Given the description of an element on the screen output the (x, y) to click on. 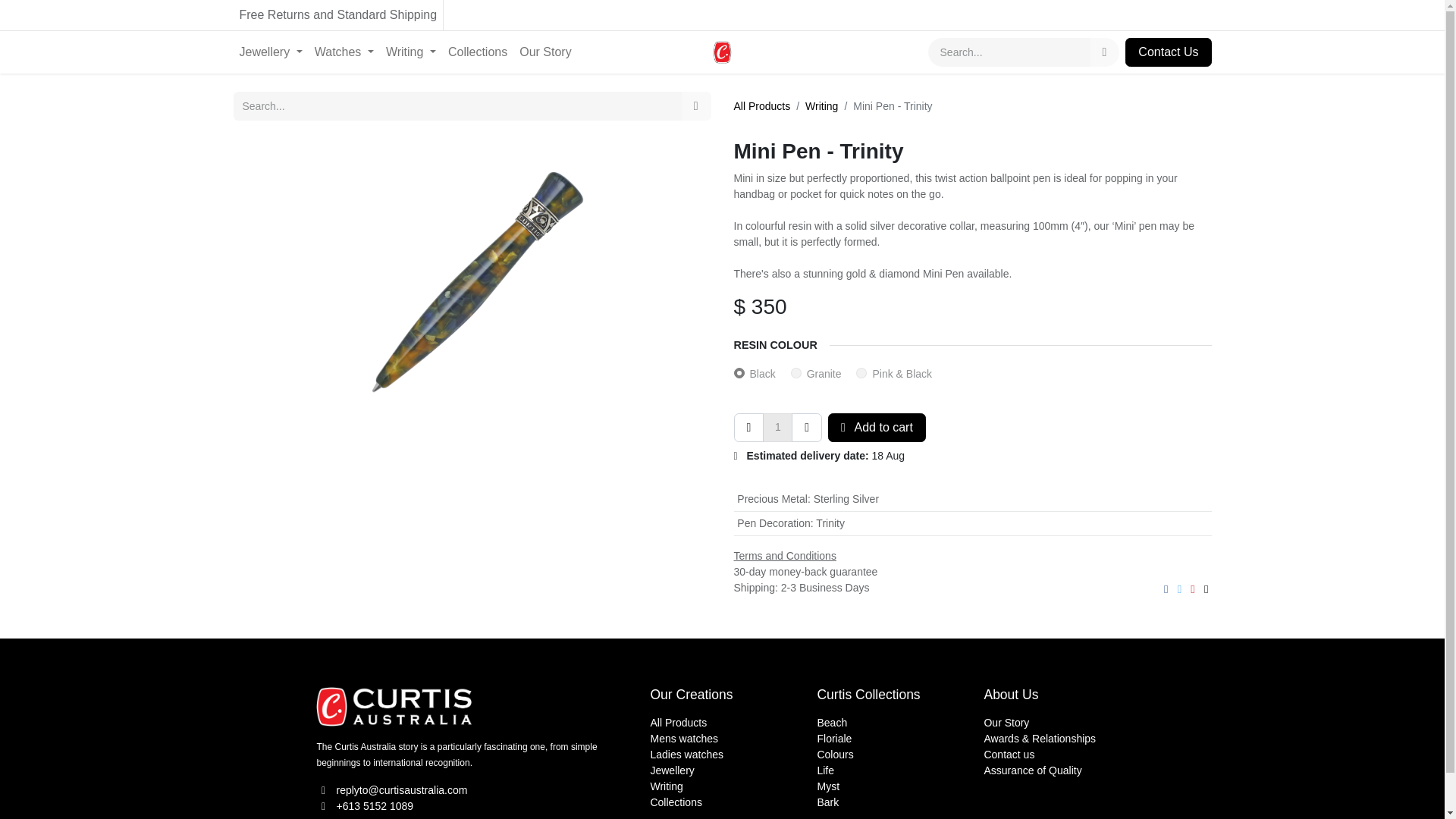
1503 (796, 372)
Contact Us (1168, 51)
Free Returns and Standard Shipping (722, 15)
1502 (738, 372)
1 (777, 427)
Watches (344, 51)
Collections (477, 51)
1504 (861, 372)
Writing (411, 51)
Our Story (544, 51)
